Given the description of an element on the screen output the (x, y) to click on. 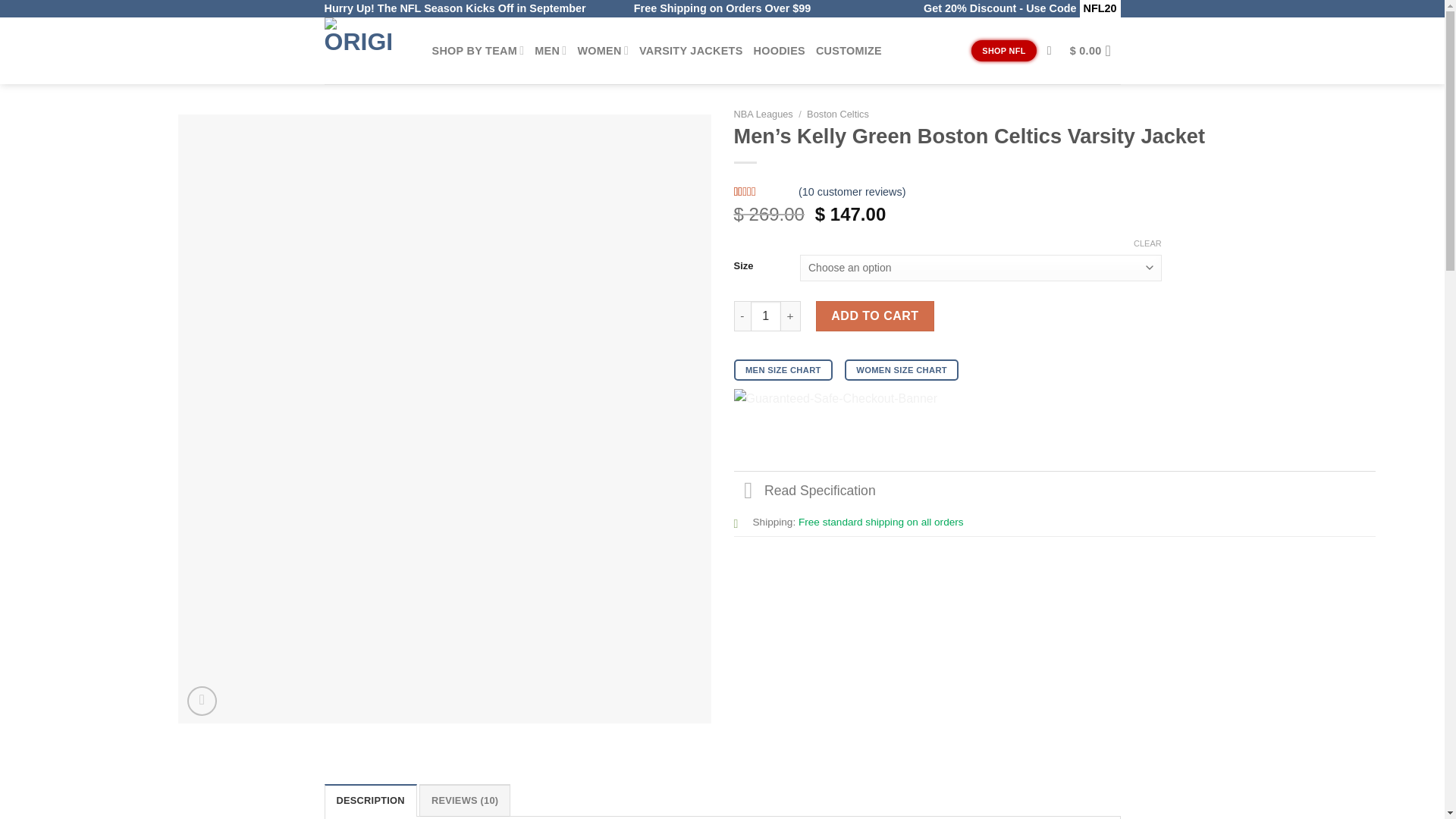
Cart (1095, 50)
WOMEN (602, 50)
1 (765, 316)
Qty (765, 316)
MEN (550, 50)
OriginaleatherJackets - Style of Clothing Inventively (366, 50)
Zoom (201, 700)
SHOP BY TEAM (478, 50)
